Given the description of an element on the screen output the (x, y) to click on. 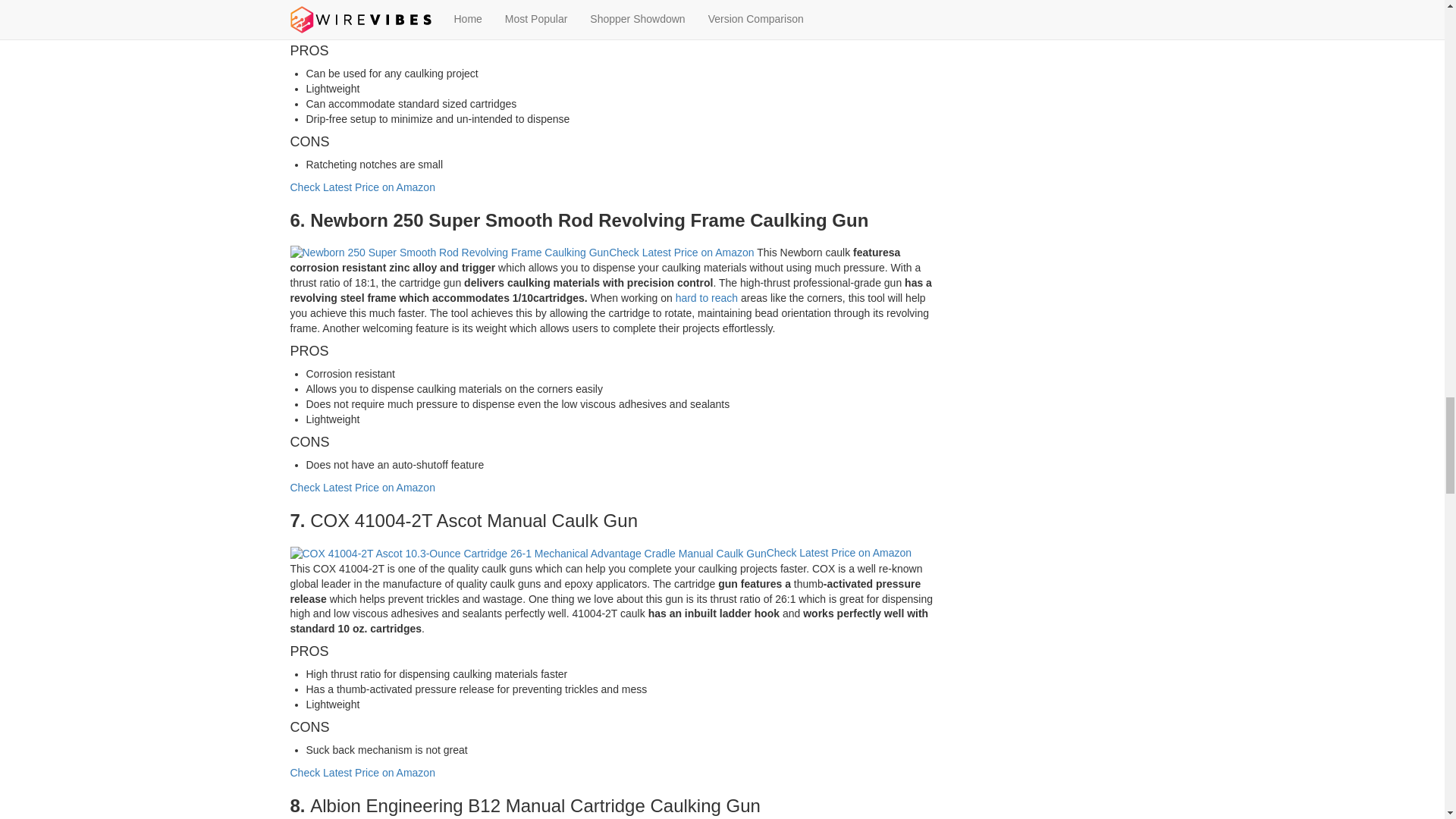
hard to reach (706, 297)
Check Latest Price on Amazon (839, 552)
Check Latest Price on Amazon (361, 487)
Check Latest Price on Amazon (361, 186)
Check Latest Price on Amazon (361, 772)
Check Latest Price on Amazon (681, 252)
Newborn 250 Super Smooth Rod Revolving Frame Caulking Gun (448, 253)
